Given the description of an element on the screen output the (x, y) to click on. 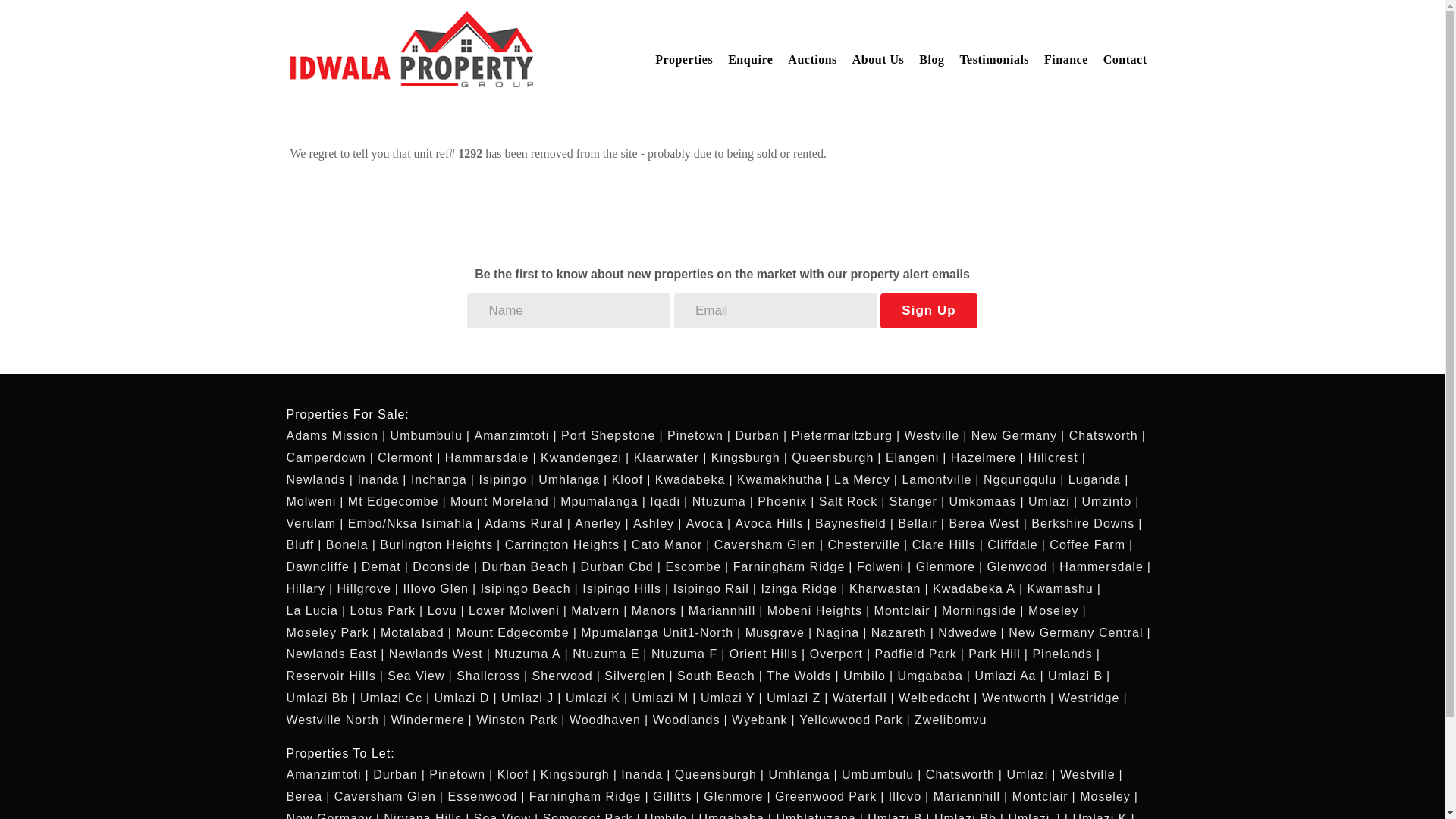
Adams Mission (336, 435)
IDWALA PROPERTY GROUP, Estate Agency Logo (410, 48)
Port Shepstone (611, 435)
Properties for sale in Klaarwater (670, 457)
Auctions (812, 60)
Properties for sale in Kingsburgh (749, 457)
Sign Up (928, 310)
Properties for sale in Westville (936, 435)
Properties for sale in Camperdown (330, 457)
Properties for sale in Amanzimtoti (515, 435)
